Given the description of an element on the screen output the (x, y) to click on. 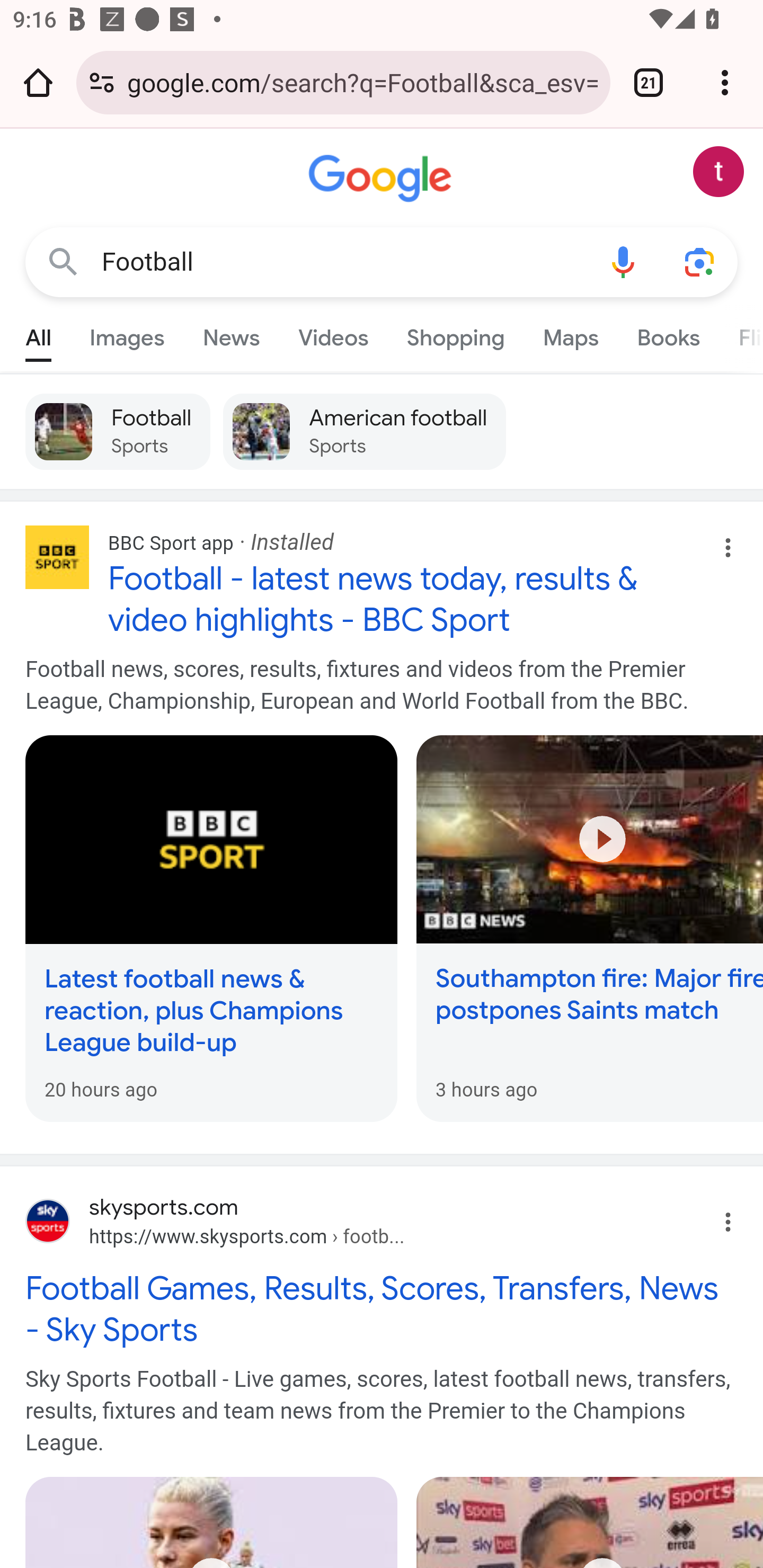
Open the home page (38, 82)
Connection is secure (101, 82)
Switch or close tabs (648, 82)
Customize and control Google Chrome (724, 82)
Google (381, 179)
Google Search (63, 262)
Search using your camera or photos (699, 262)
Football (343, 261)
Images (127, 333)
News (231, 333)
Videos (332, 333)
Shopping (455, 333)
Maps (570, 333)
Books (668, 333)
Football Sports Football Sports (118, 431)
American football Sports American football Sports (364, 431)
